Given the description of an element on the screen output the (x, y) to click on. 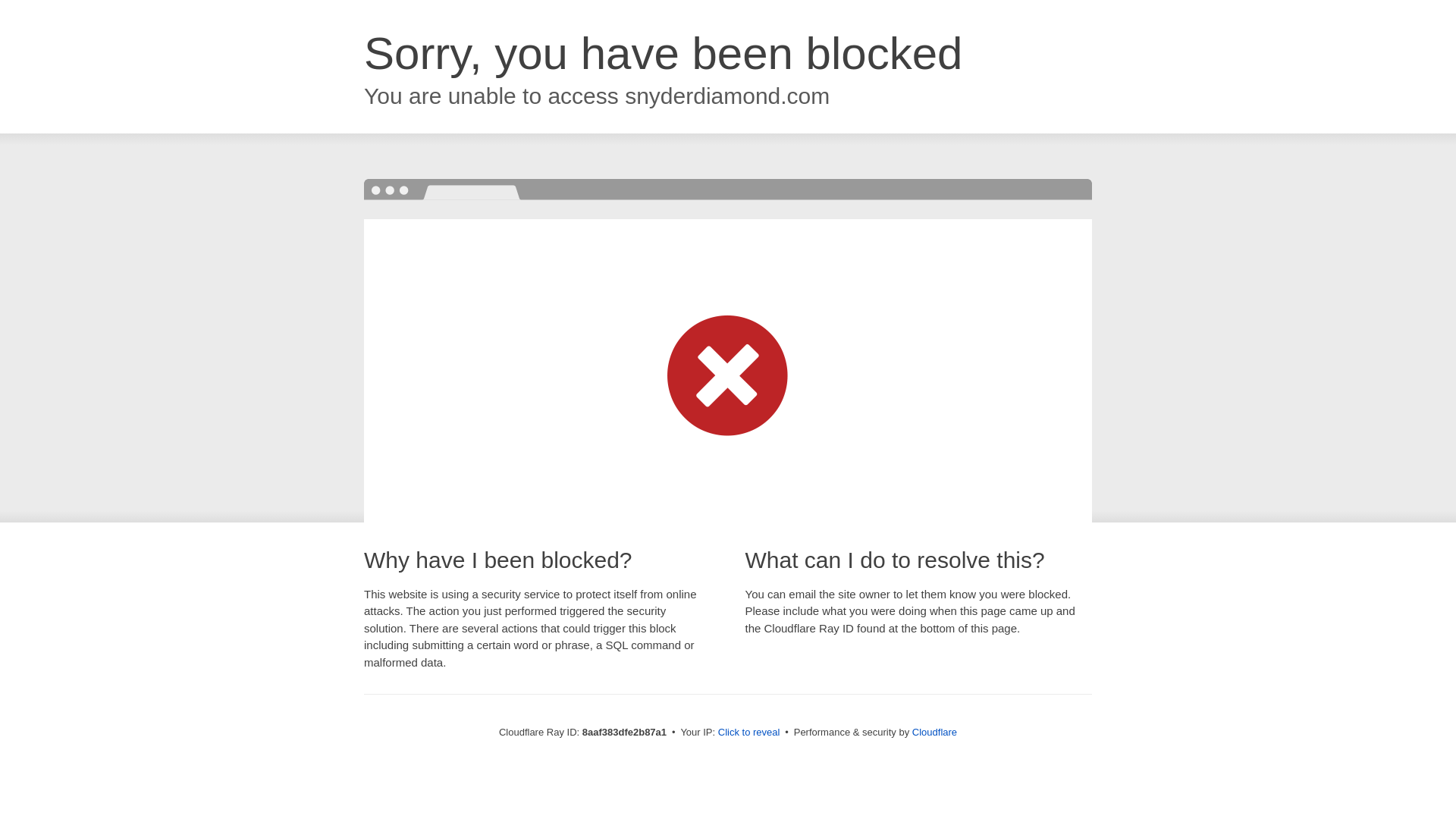
Cloudflare (934, 731)
Click to reveal (748, 732)
